Given the description of an element on the screen output the (x, y) to click on. 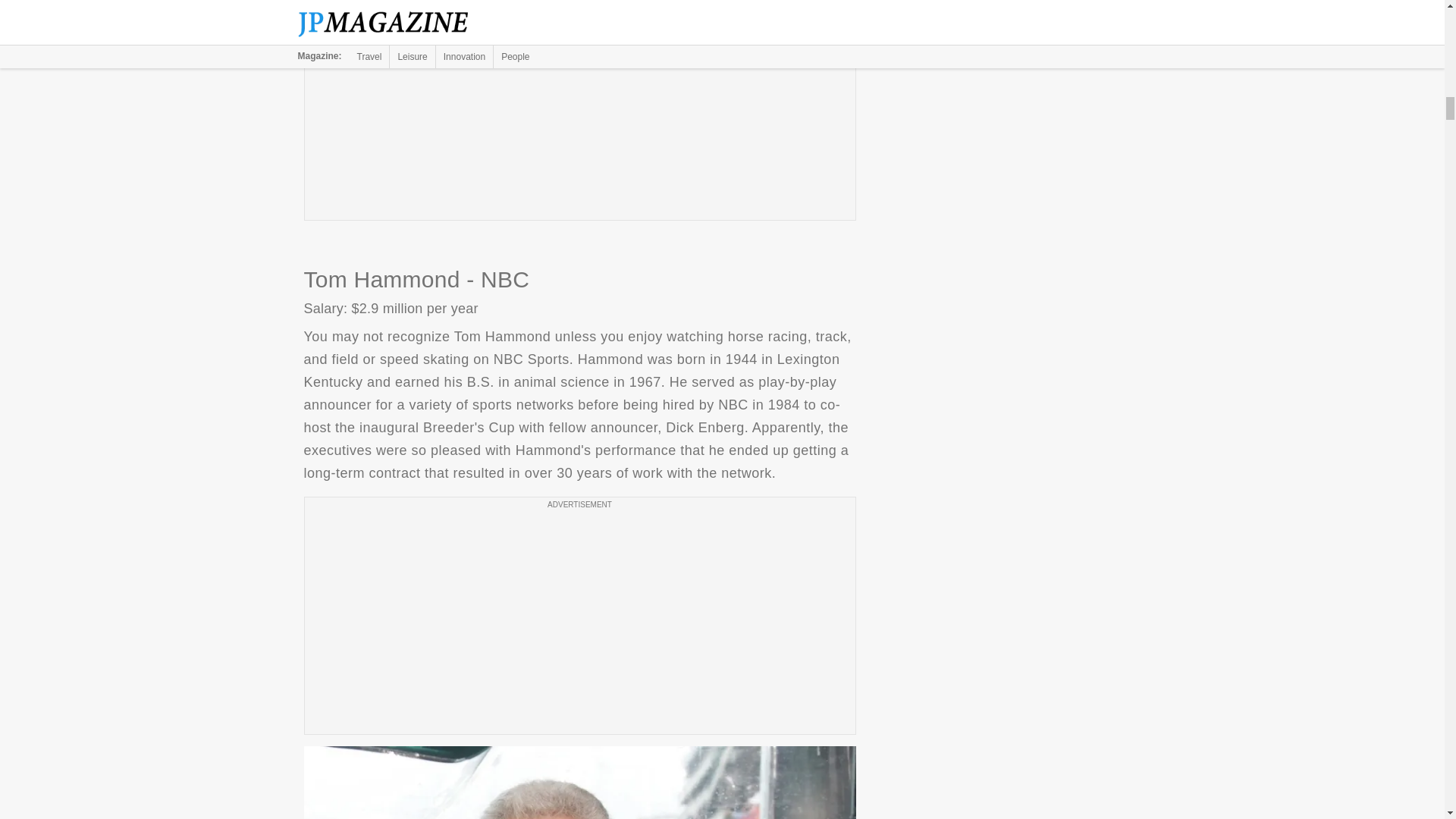
Tom Hammond - NBC (579, 782)
